Given the description of an element on the screen output the (x, y) to click on. 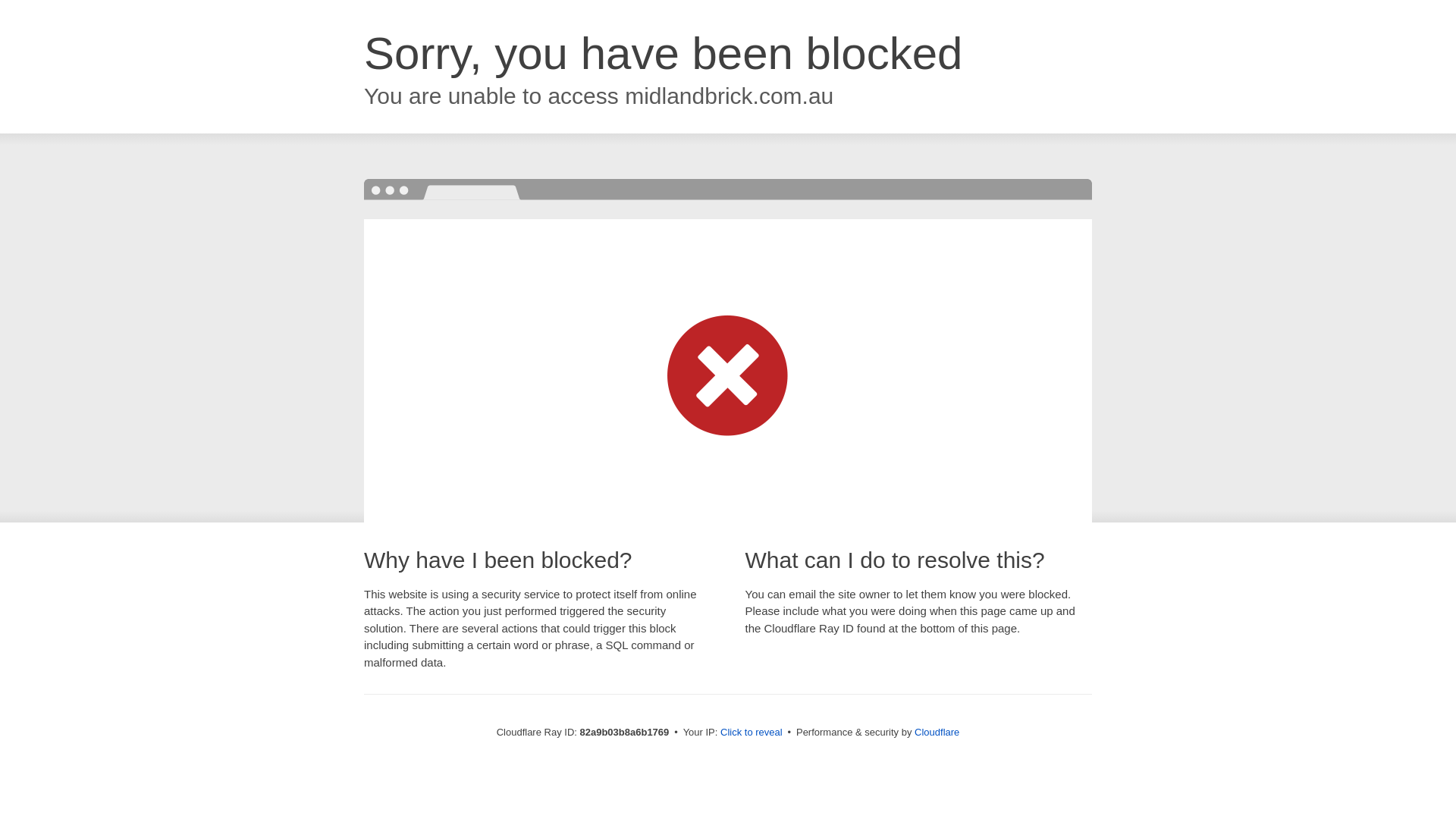
Click to reveal Element type: text (751, 732)
Cloudflare Element type: text (936, 731)
